Given the description of an element on the screen output the (x, y) to click on. 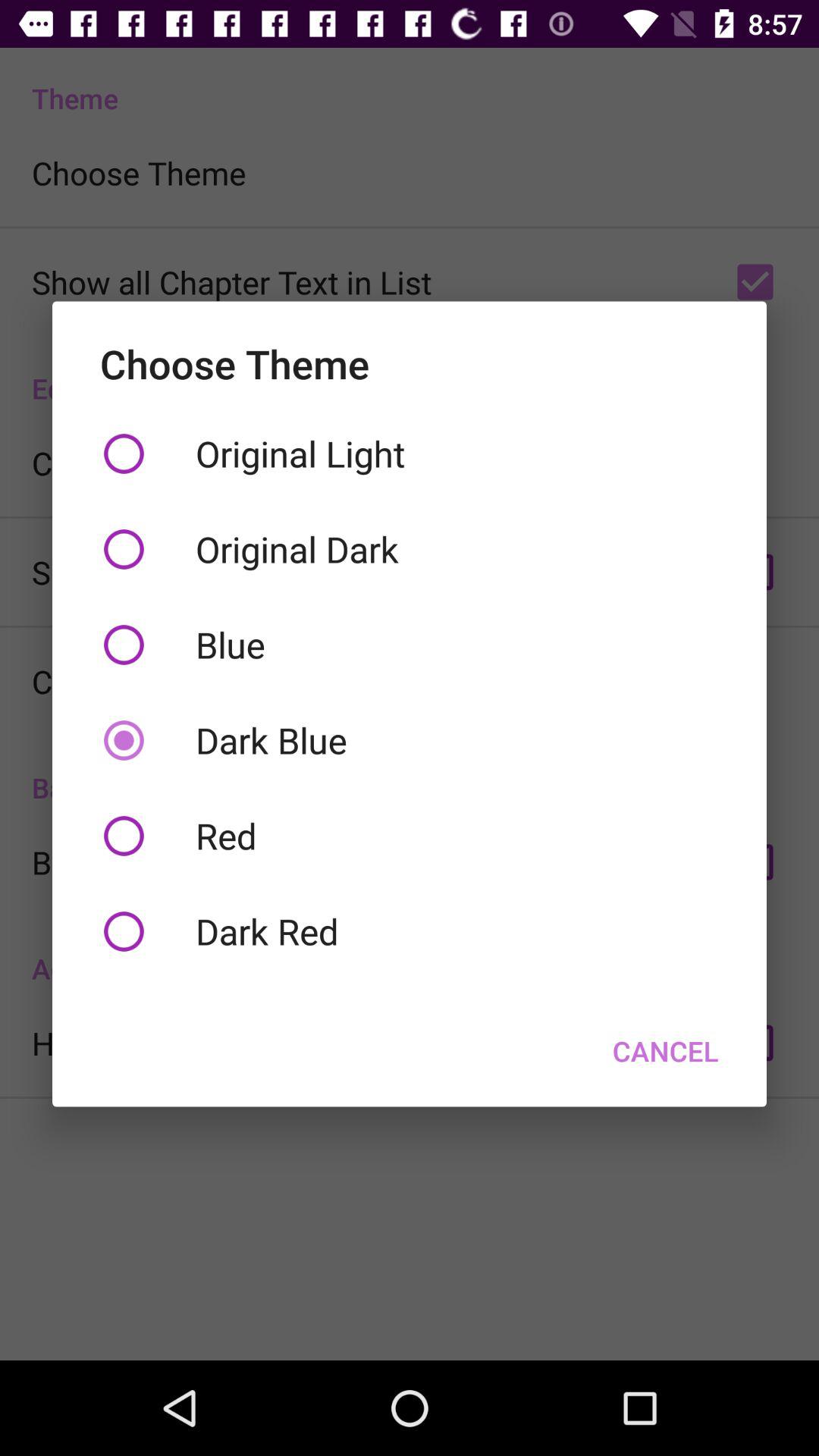
click the item below the dark red checkbox (665, 1050)
